Given the description of an element on the screen output the (x, y) to click on. 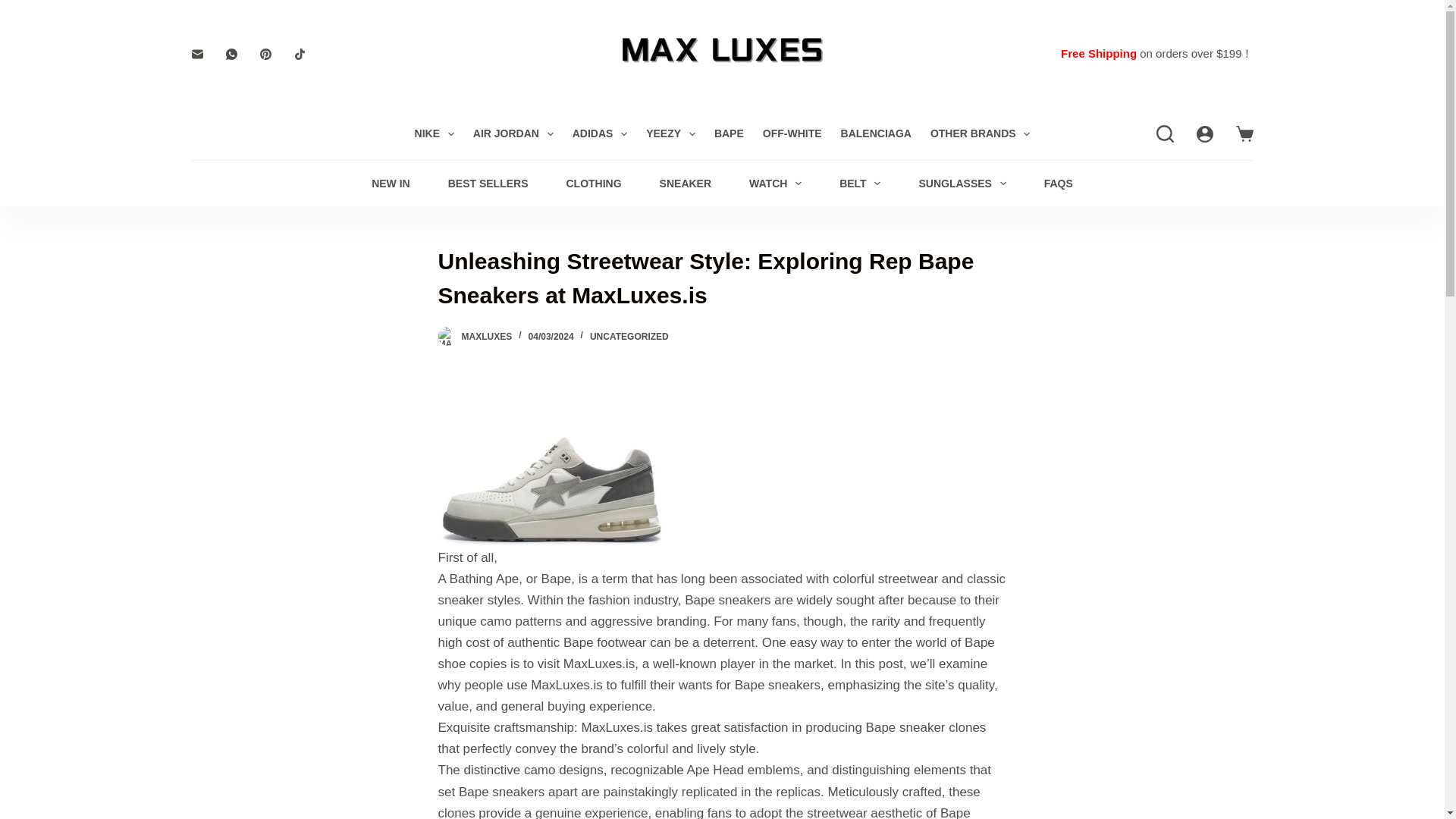
Posts by Maxluxes (486, 336)
Skip to content (15, 7)
